Given the description of an element on the screen output the (x, y) to click on. 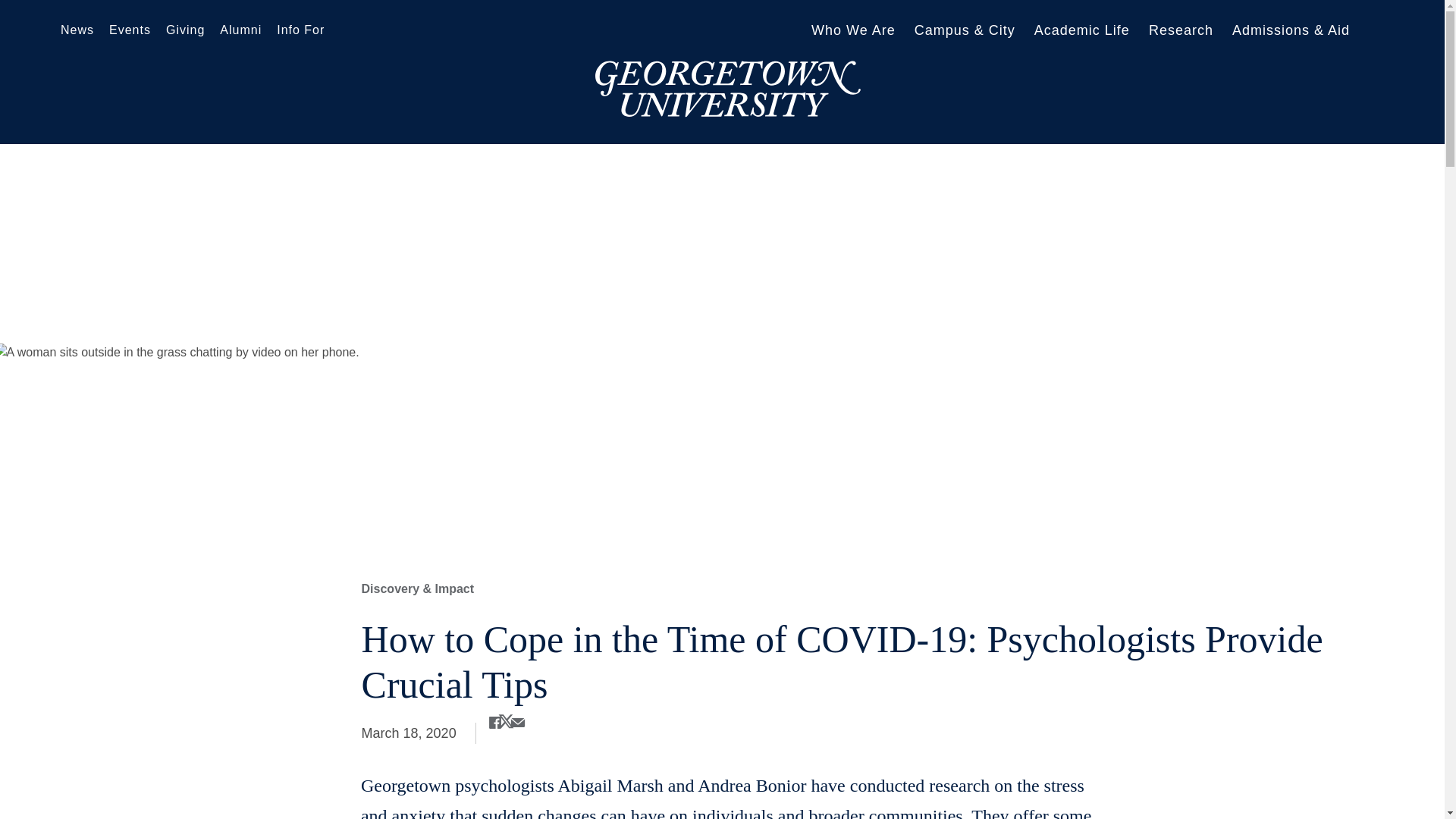
Georgetown University (727, 88)
